Given the description of an element on the screen output the (x, y) to click on. 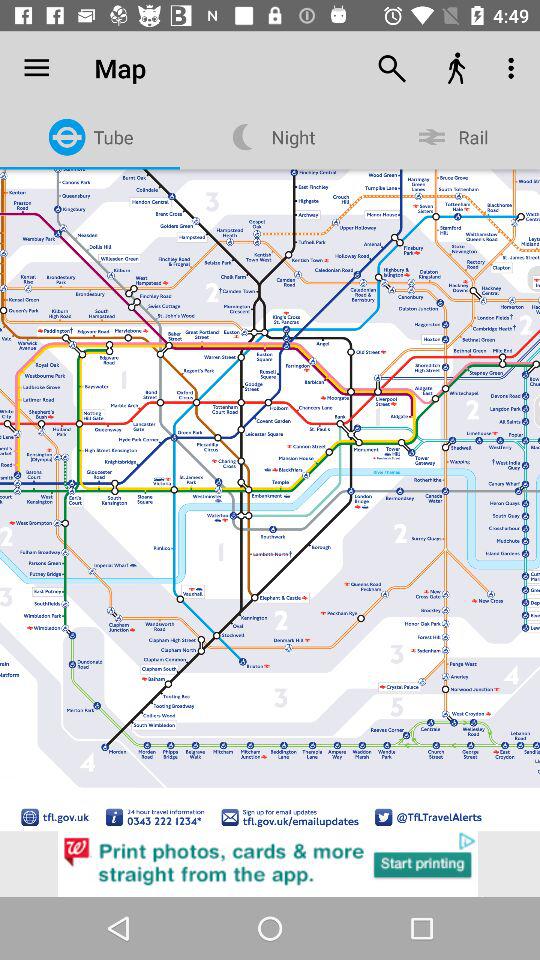
tap icon next to tube icon (36, 68)
